Given the description of an element on the screen output the (x, y) to click on. 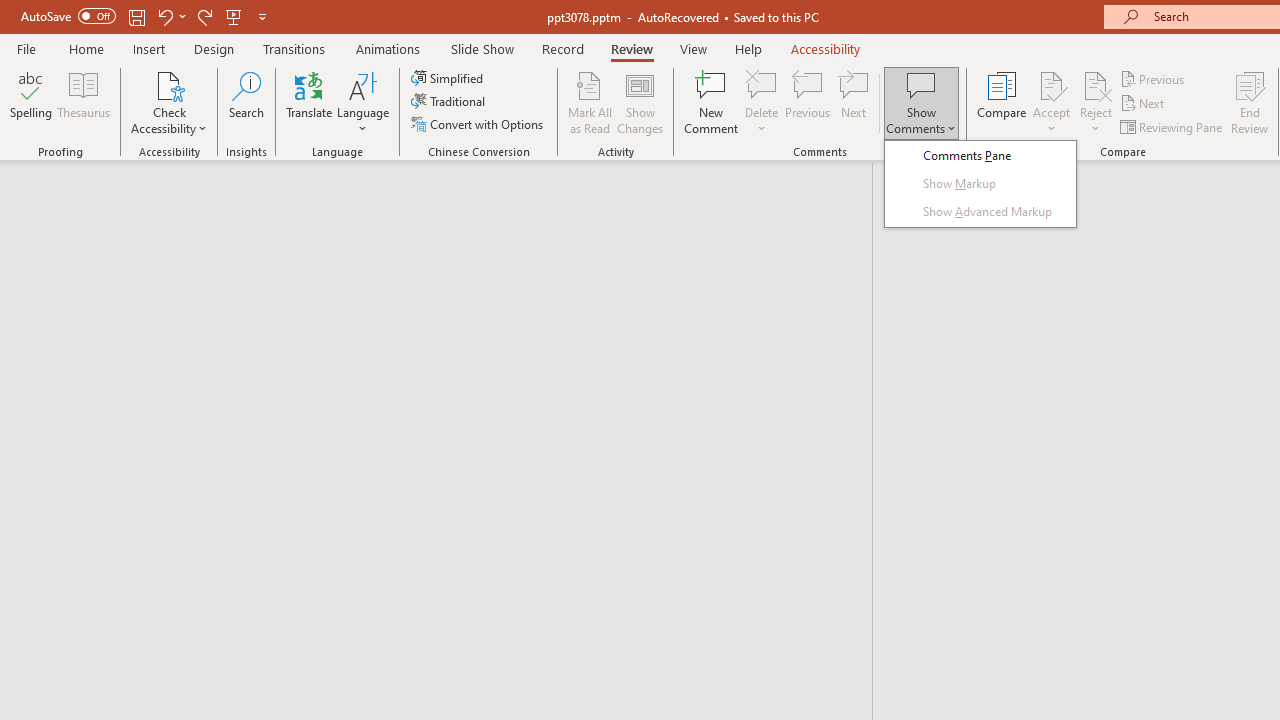
Accept Change (1051, 84)
New Comment (711, 102)
Reject Change (1096, 84)
Accept (1051, 102)
Reviewing Pane (1172, 126)
Show Changes (639, 102)
